Given the description of an element on the screen output the (x, y) to click on. 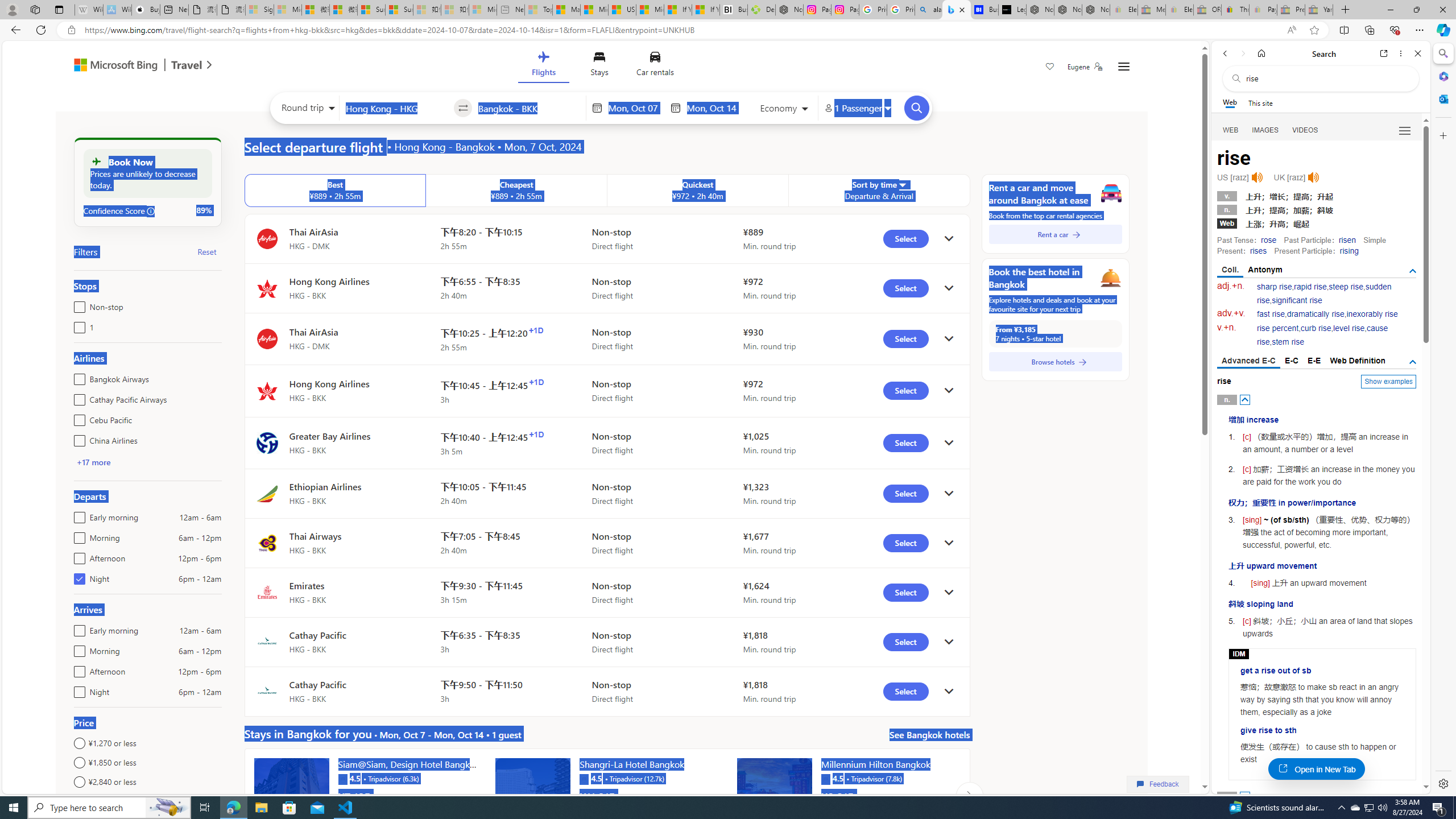
Press Room - eBay Inc. - Sleeping (1291, 9)
stem rise (1287, 341)
Top Stories - MSN - Sleeping (538, 9)
steep rise (1345, 286)
Cebu Pacific (76, 417)
Going to? (528, 107)
Antonym (1265, 269)
